Given the description of an element on the screen output the (x, y) to click on. 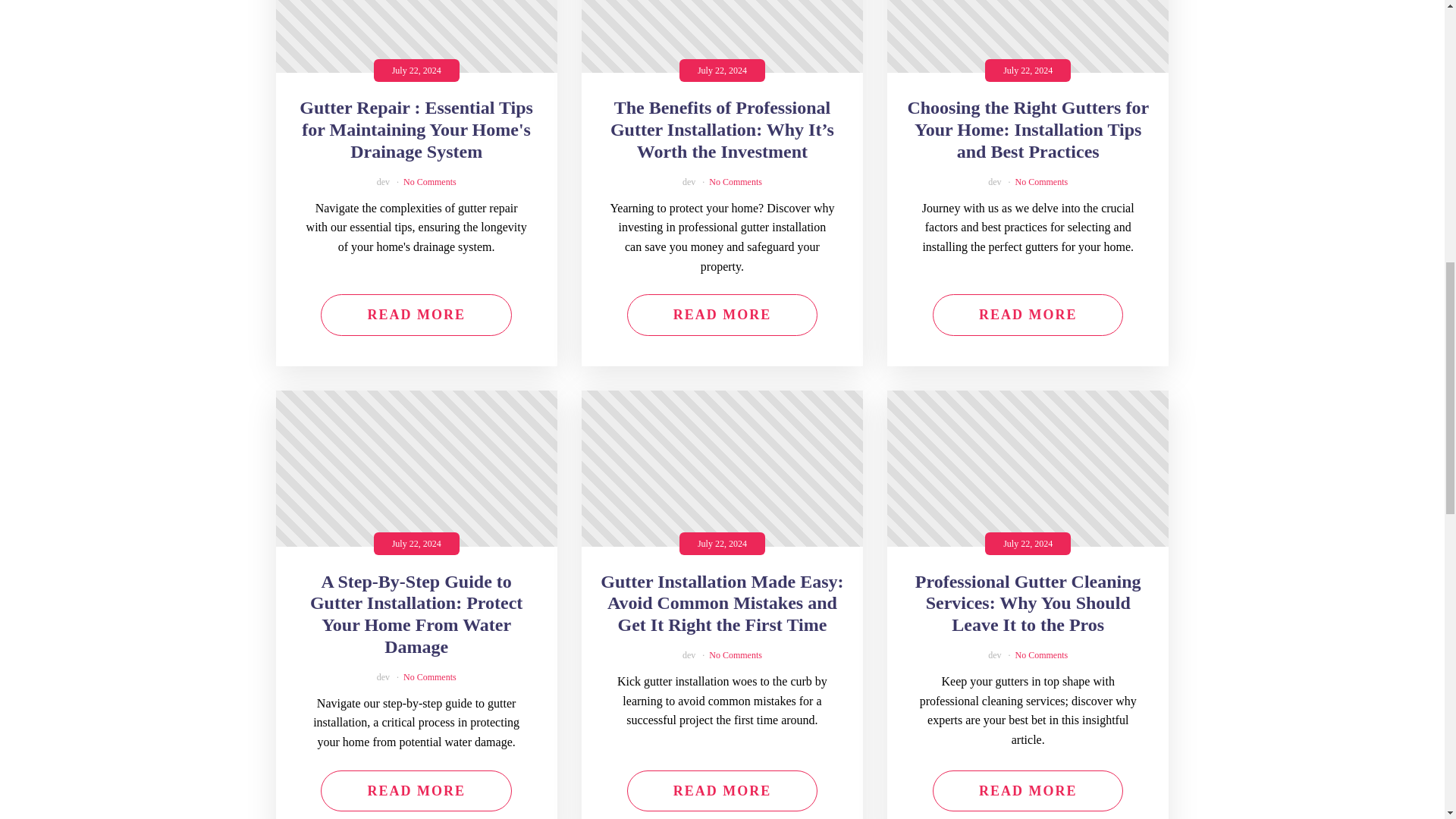
July 22, 2024 (416, 36)
No Comments (430, 181)
